Given the description of an element on the screen output the (x, y) to click on. 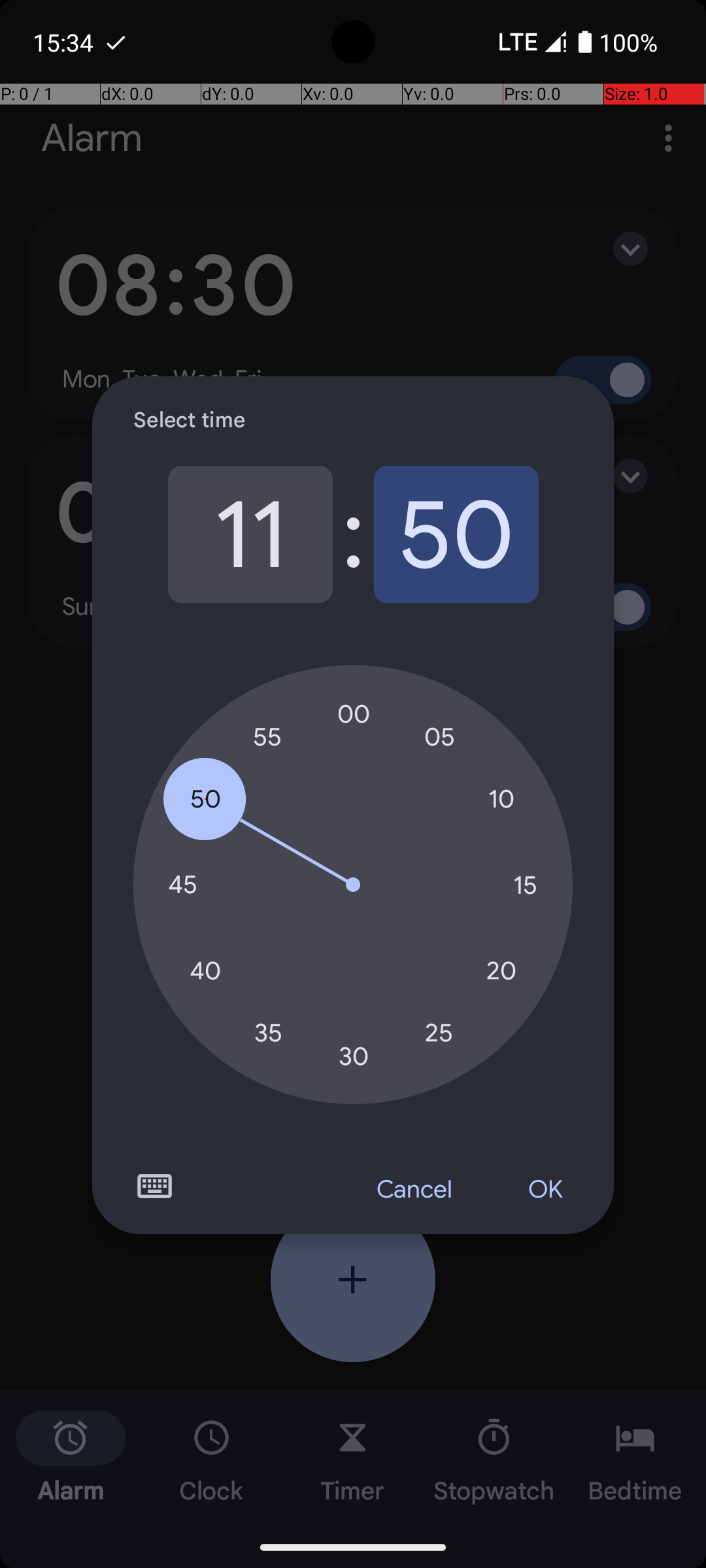
Contacts notification: Finished exporting contacts.vcf. Element type: android.widget.ImageView (115, 41)
